Given the description of an element on the screen output the (x, y) to click on. 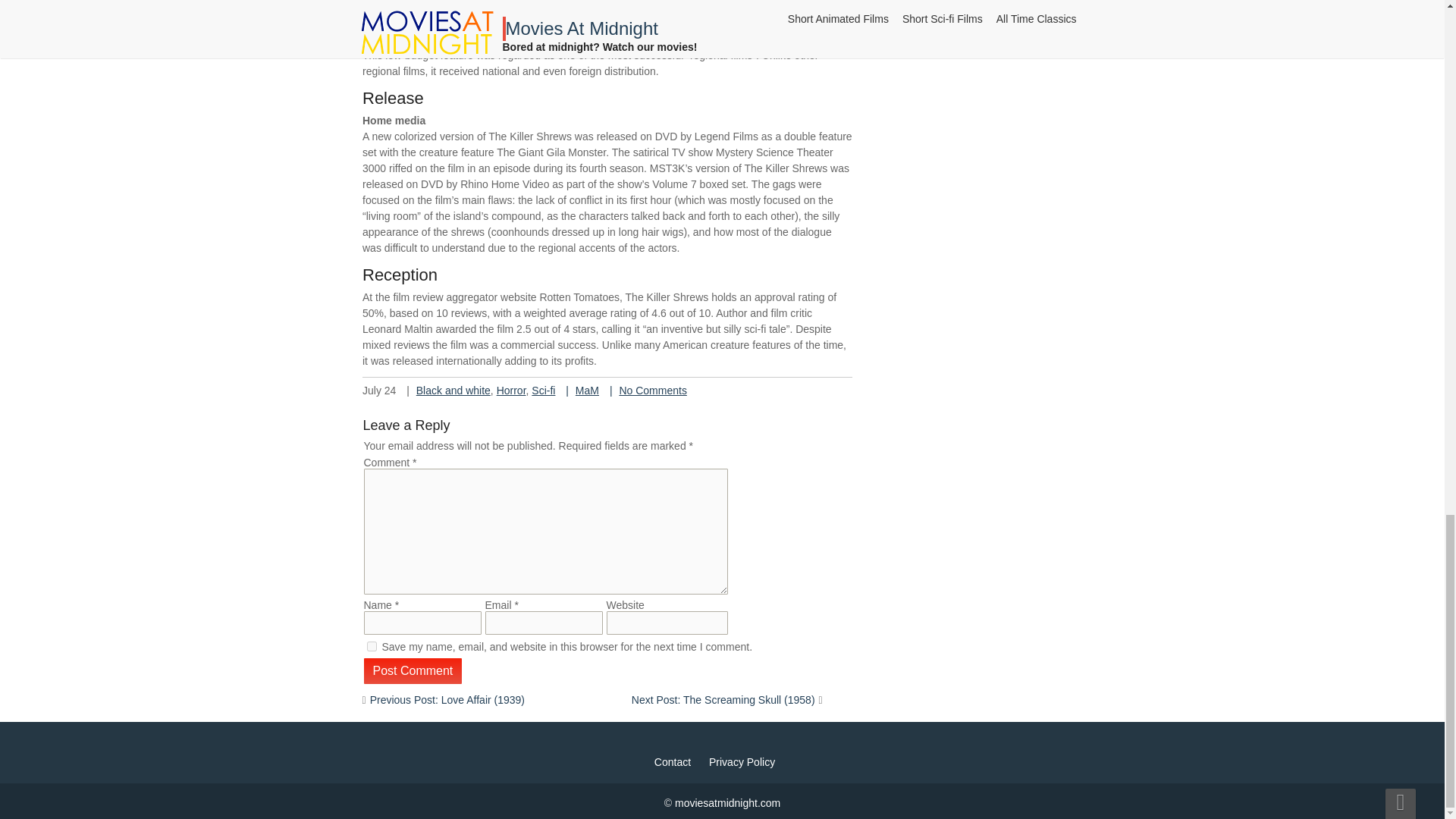
yes (371, 646)
Post Comment (413, 670)
Movies at Midnight (727, 802)
Post Comment (413, 670)
Posts by MaM (586, 387)
